Given the description of an element on the screen output the (x, y) to click on. 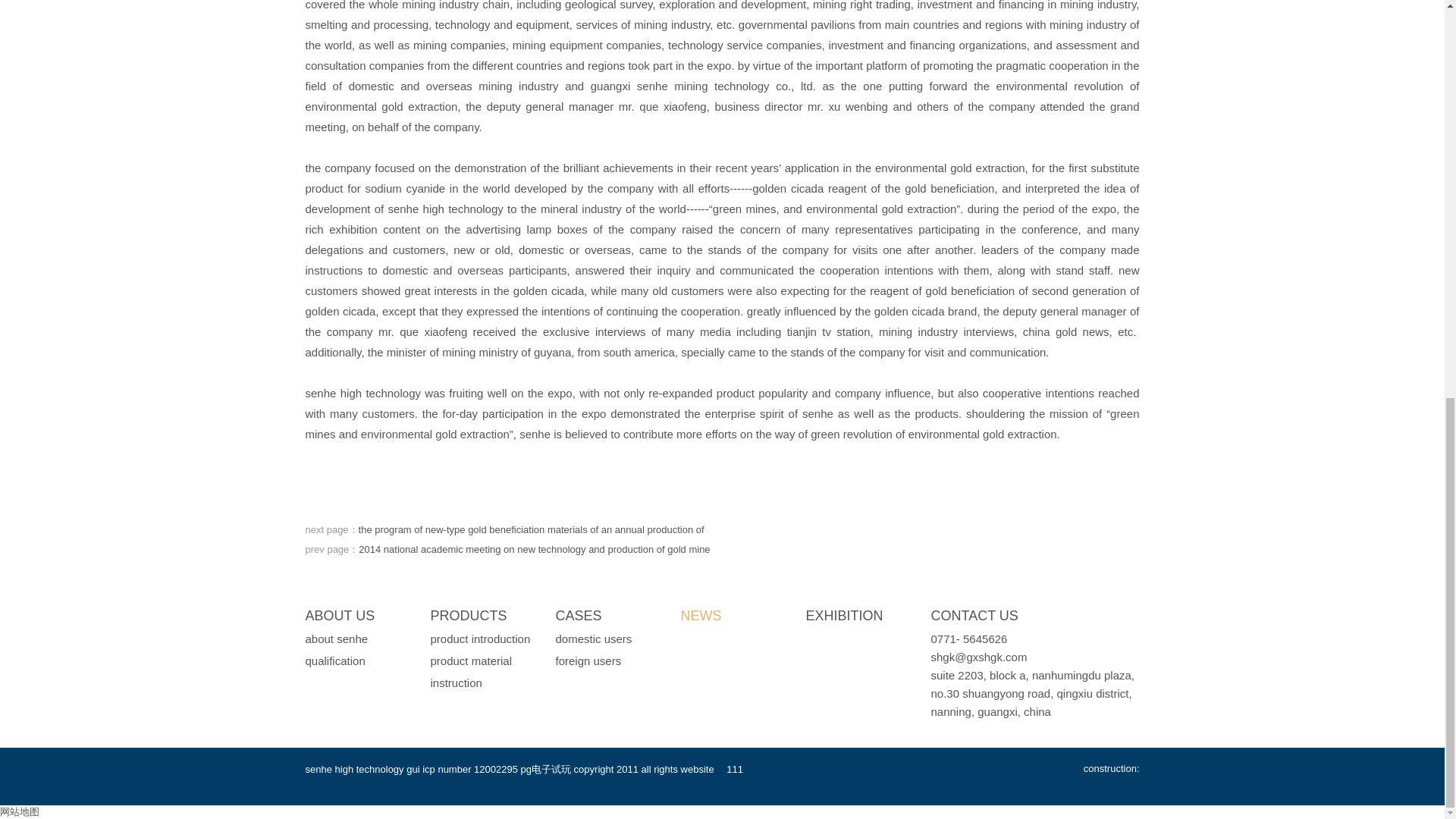
CASES (577, 615)
domestic users (592, 638)
about senhe (336, 638)
NEWS (701, 615)
PRODUCTS (468, 615)
ABOUT US (339, 615)
product material (471, 660)
instruction (455, 682)
CONTACT US (974, 615)
foreign users (587, 660)
qualification (334, 660)
product introduction (480, 638)
EXHIBITION (843, 615)
